Given the description of an element on the screen output the (x, y) to click on. 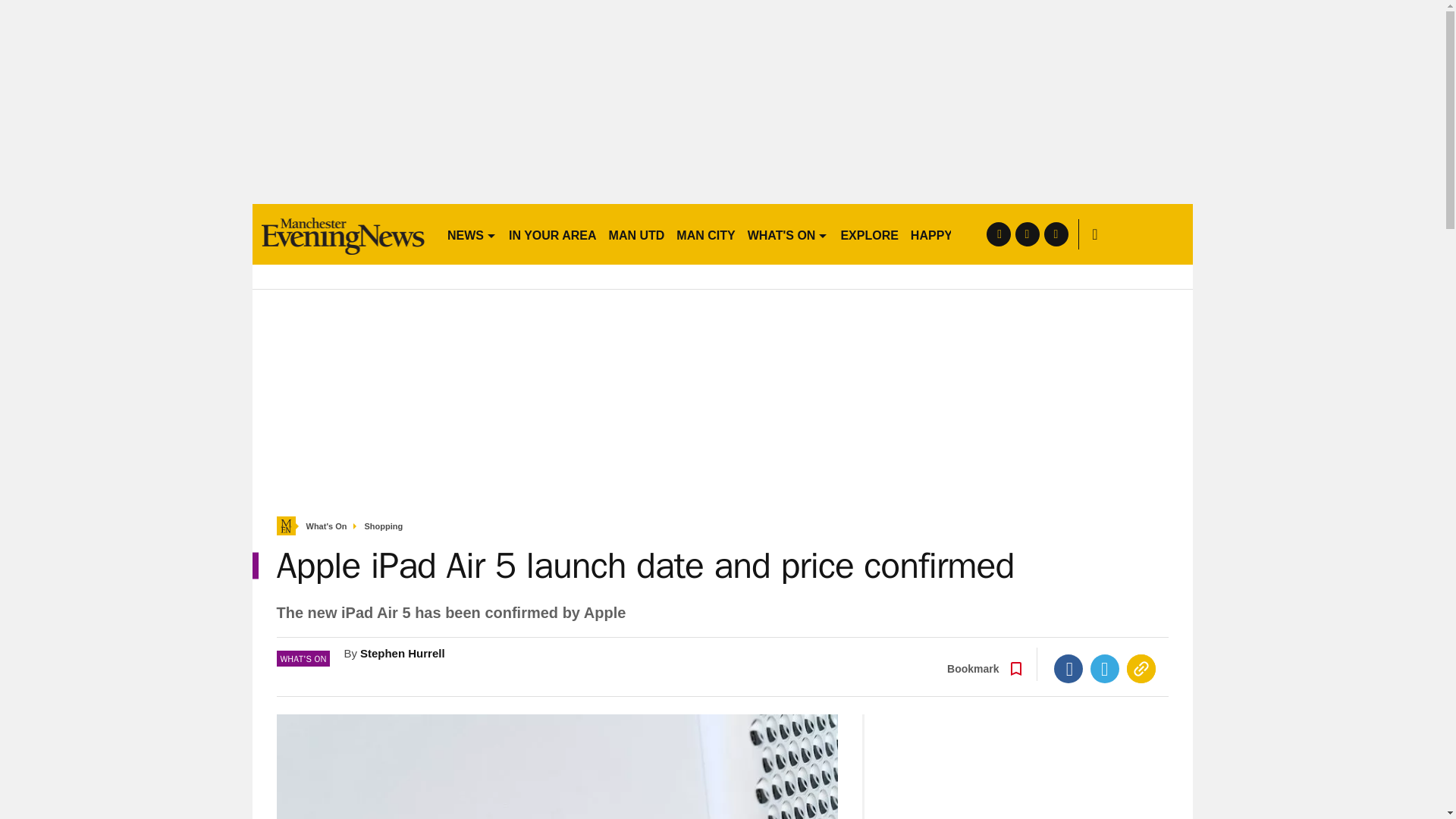
facebook (997, 233)
men (342, 233)
WHAT'S ON (787, 233)
MAN UTD (636, 233)
MAN CITY (705, 233)
instagram (1055, 233)
Twitter (1104, 668)
Facebook (1068, 668)
NEWS (471, 233)
IN YOUR AREA (552, 233)
